Given the description of an element on the screen output the (x, y) to click on. 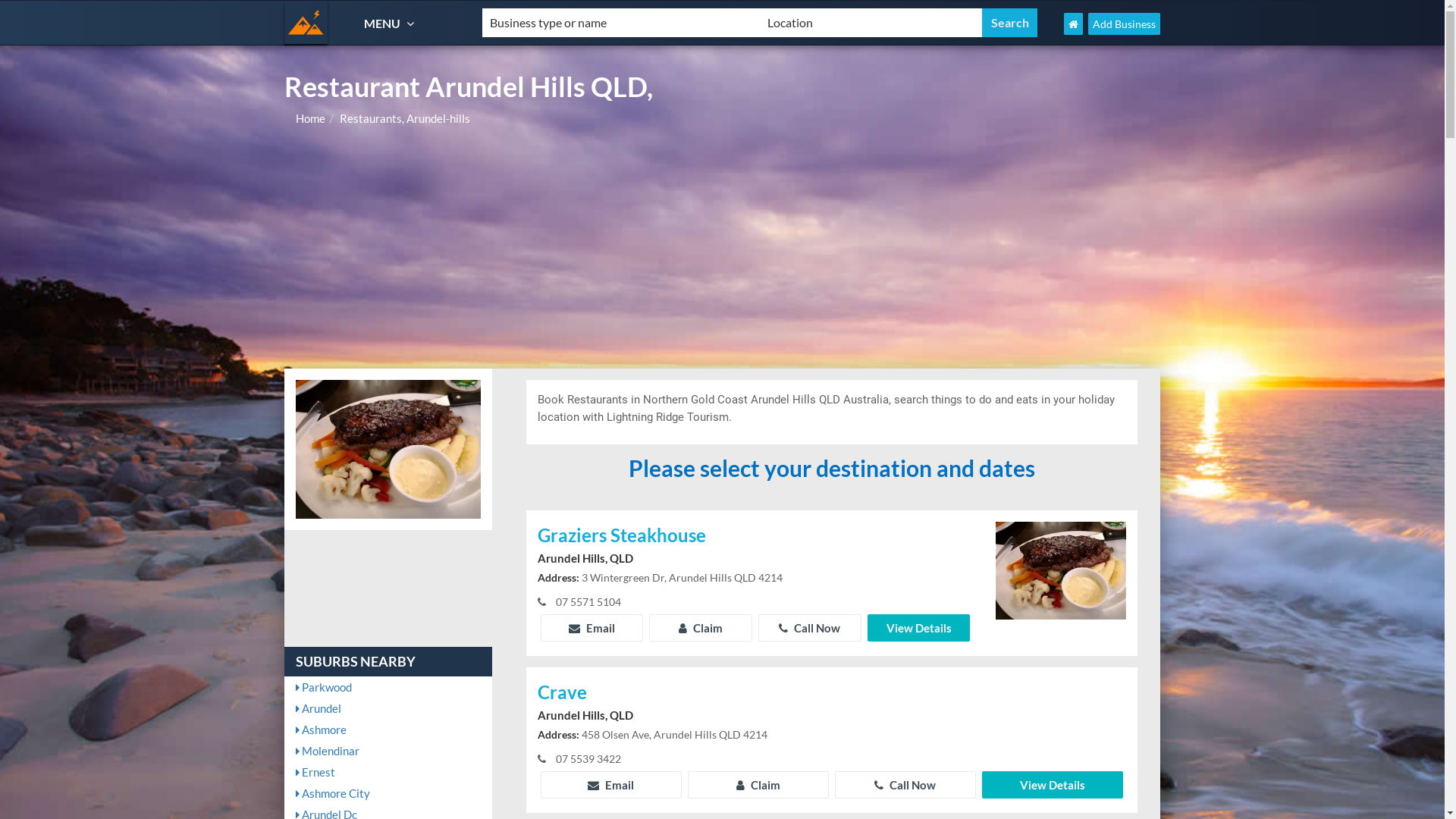
Ernest Element type: text (388, 771)
Lightning Ridge Tourism Home Page Element type: hover (1072, 23)
Parkwood Element type: text (388, 686)
Lightning Ridge Tourism Element type: hover (305, 21)
More info on Graziers Steakhouse Element type: hover (1060, 569)
Ashmore City Element type: text (388, 792)
Search Element type: text (1009, 22)
View Details Element type: text (1052, 784)
Advertisement Element type: hover (722, 254)
Claim Element type: text (757, 784)
Arundel Element type: text (388, 707)
Molendinar Element type: text (388, 750)
View Details Element type: text (918, 627)
Claim Element type: text (700, 627)
Add Business Element type: text (1124, 23)
Email Element type: text (591, 627)
Email Element type: text (610, 784)
Call Now Element type: text (904, 784)
Call Now Element type: text (809, 627)
Crave Element type: text (831, 693)
Ashmore Element type: text (388, 729)
MENU Element type: text (390, 22)
Home Element type: text (310, 118)
Restaurants, Arundel-hills Element type: text (404, 118)
Graziers Steakhouse Element type: text (755, 536)
